Given the description of an element on the screen output the (x, y) to click on. 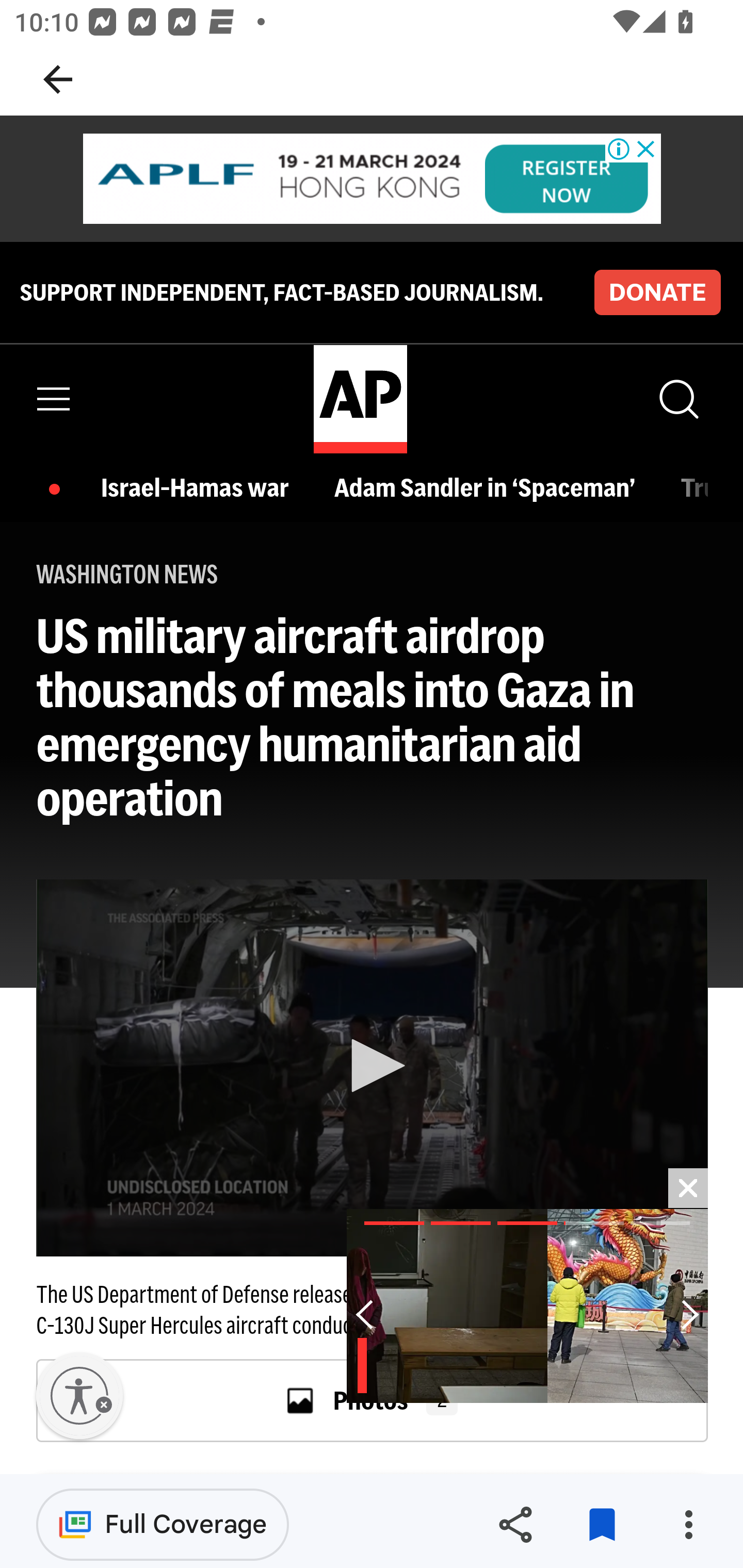
Navigate up (57, 79)
DONATE (657, 291)
home page AP Logo (359, 398)
Menu (54, 398)
Show Search (677, 398)
Israel-Hamas war (200, 487)
Adam Sandler in ‘Spaceman’ (489, 487)
Play (372, 1066)
Enable accessibility (79, 1395)
Share (514, 1524)
Remove from saved stories (601, 1524)
More options (688, 1524)
Full Coverage (162, 1524)
